Given the description of an element on the screen output the (x, y) to click on. 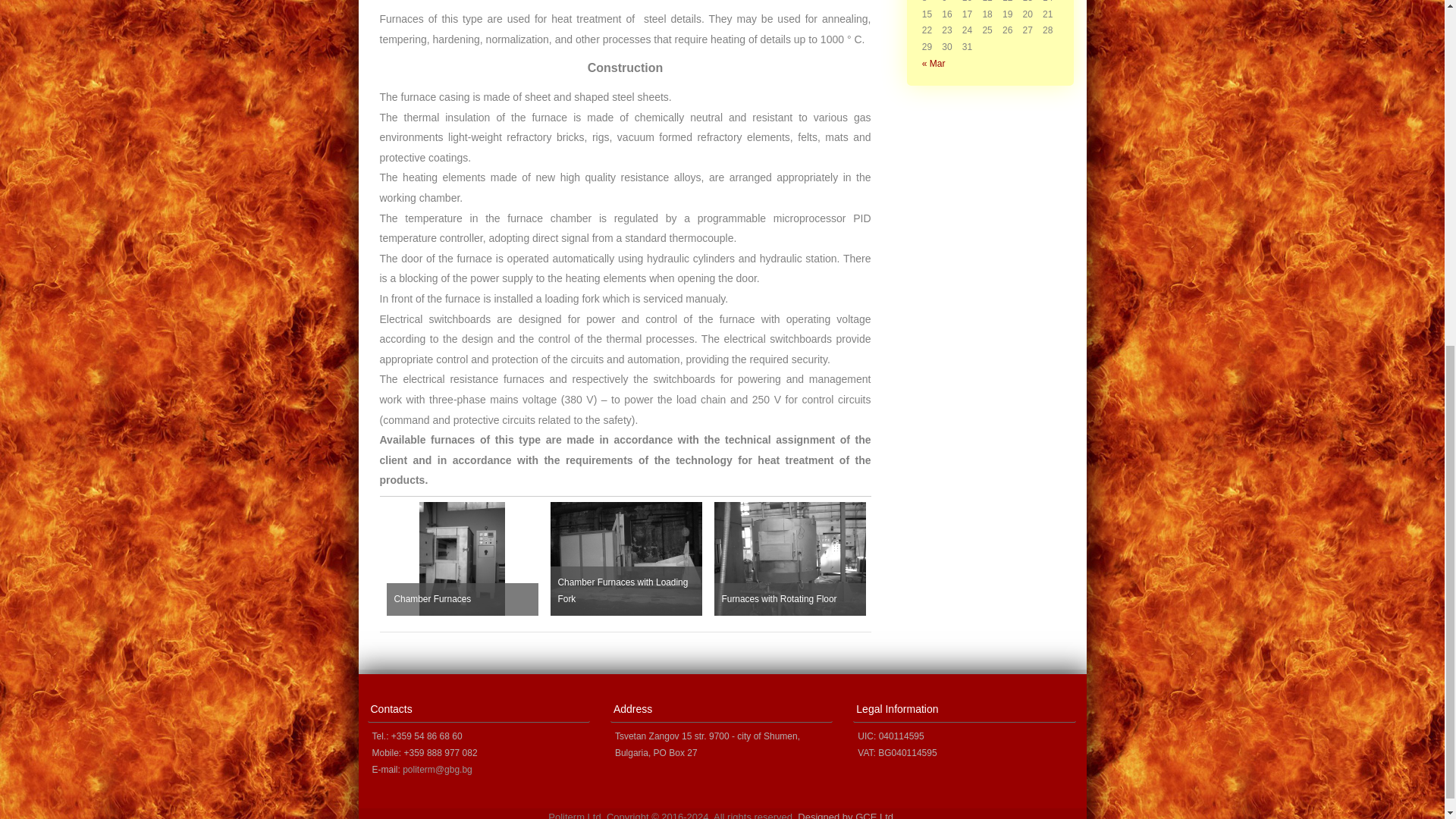
Chamber Furnaces with Loading Fork (625, 558)
Furnaces with Rotating Floor (790, 558)
